Given the description of an element on the screen output the (x, y) to click on. 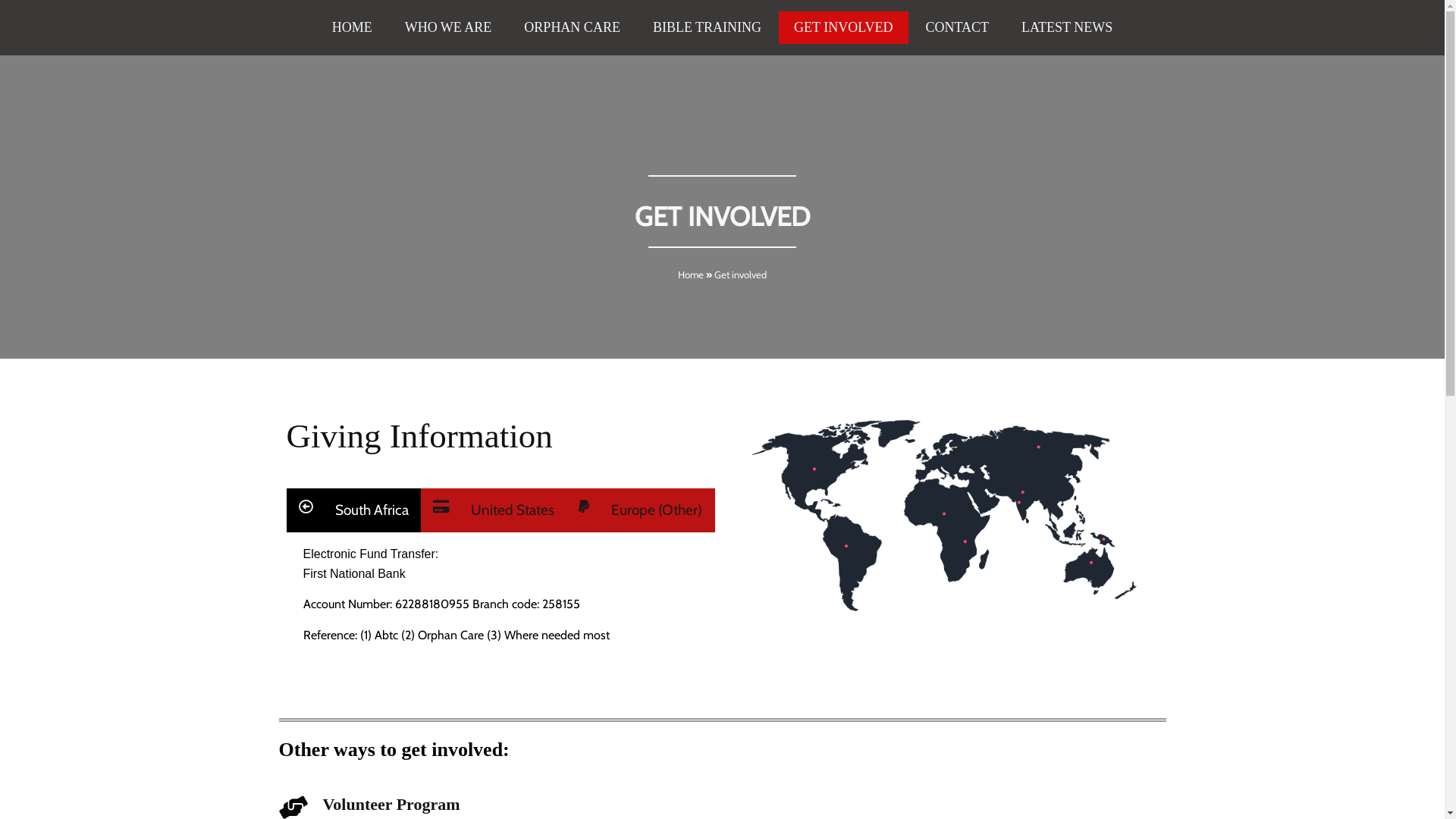
HOME Element type: text (351, 27)
LATEST NEWS Element type: text (1066, 27)
ORPHAN CARE Element type: text (571, 27)
CONTACT Element type: text (957, 27)
Europe (Other) Element type: text (640, 510)
Home Element type: text (690, 274)
world-map Element type: hover (944, 515)
GET INVOLVED Element type: text (843, 27)
South Africa Element type: text (353, 510)
United States Element type: text (493, 510)
BIBLE TRAINING Element type: text (706, 27)
WHO WE ARE Element type: text (448, 27)
